Given the description of an element on the screen output the (x, y) to click on. 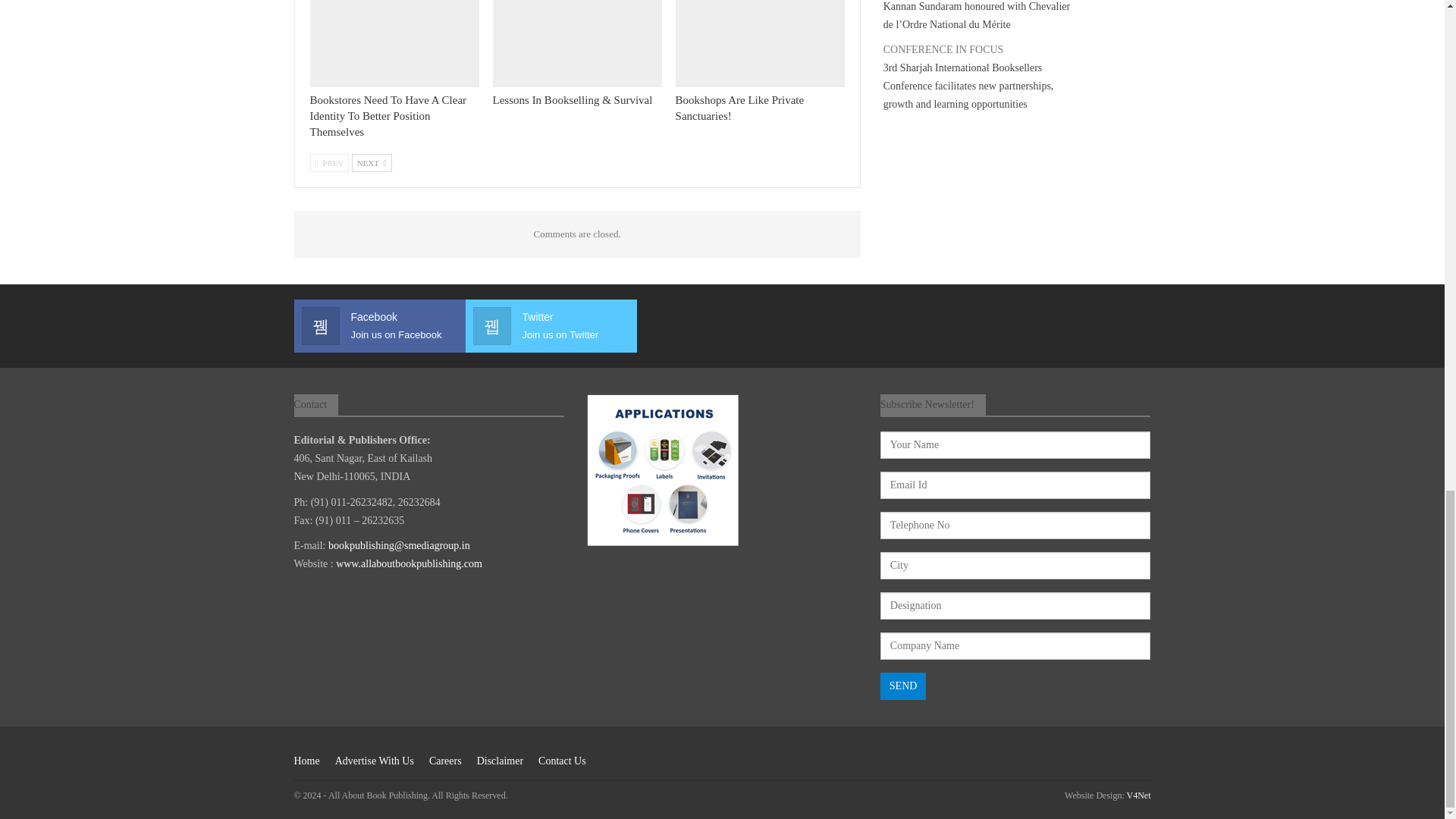
Previous (328, 162)
Send (903, 686)
Next (371, 162)
Bookshops are like private sanctuaries! (759, 43)
